Given the description of an element on the screen output the (x, y) to click on. 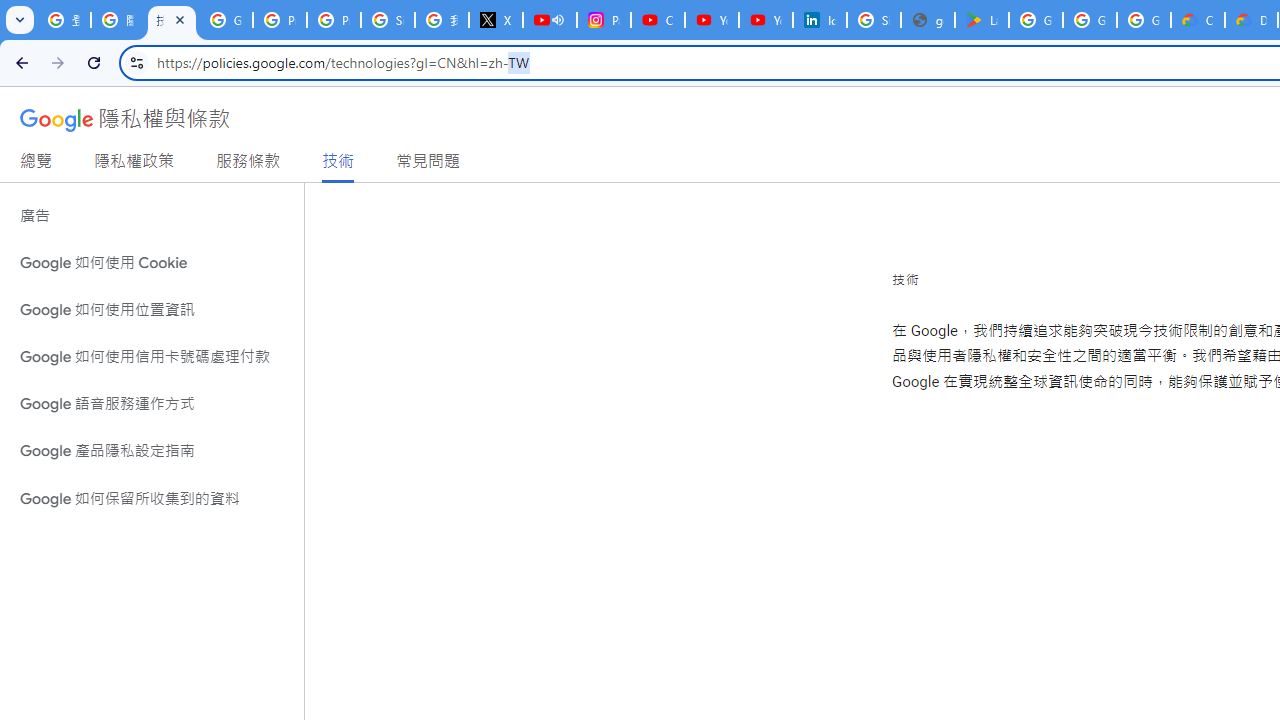
Customer Care | Google Cloud (1197, 20)
